Given the description of an element on the screen output the (x, y) to click on. 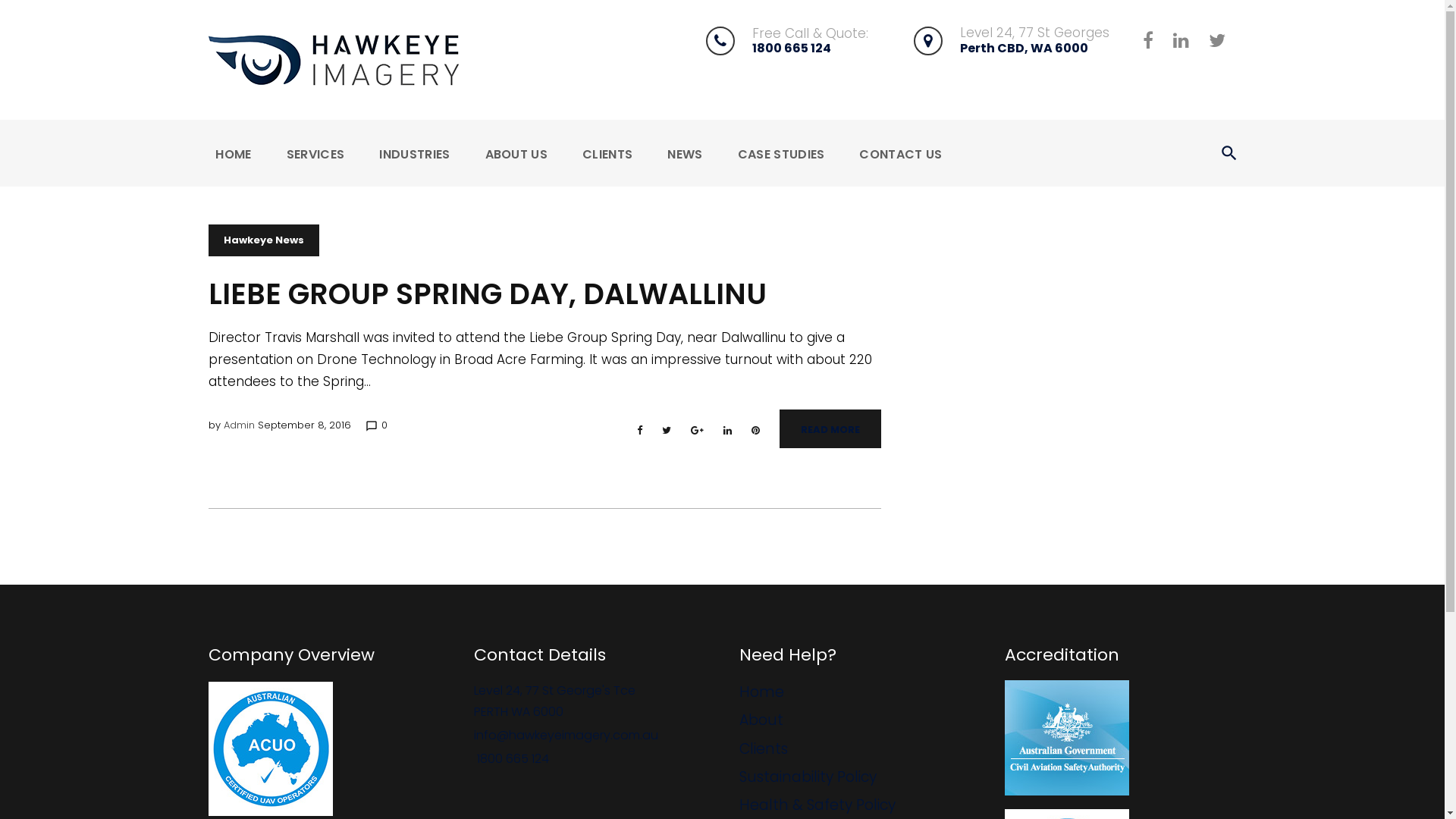
INDUSTRIES Element type: text (414, 152)
Twitter Element type: text (666, 430)
LinkedIn Element type: text (727, 430)
Admin Element type: text (238, 424)
Skip to content Element type: text (0, 0)
1800 665 124 Element type: text (791, 47)
READ MORE Element type: text (830, 428)
CONTACT US Element type: text (900, 152)
CLIENTS Element type: text (607, 152)
Clients Element type: text (763, 748)
Google+ Element type: text (696, 430)
info@hawkeyeimagery.com.au Element type: text (565, 734)
Linkedin Element type: text (1181, 40)
Pinterest Element type: text (755, 430)
Hawkeye News Element type: text (263, 240)
LIEBE GROUP SPRING DAY, DALWALLINU Element type: text (487, 293)
Health & Safety Policy Element type: text (817, 804)
Facebook Element type: text (639, 430)
chat_bubble_outline0 Element type: text (376, 424)
About Element type: text (761, 719)
1800 665 124 Element type: text (512, 758)
facebook Element type: text (1147, 40)
ABOUT US Element type: text (516, 152)
September 8, 2016 Element type: text (304, 424)
HOME Element type: text (232, 152)
twitter Element type: text (1216, 40)
SERVICES Element type: text (315, 152)
Home Element type: text (761, 691)
CASE STUDIES Element type: text (781, 152)
Sustainability Policy Element type: text (807, 776)
NEWS Element type: text (684, 152)
